Given the description of an element on the screen output the (x, y) to click on. 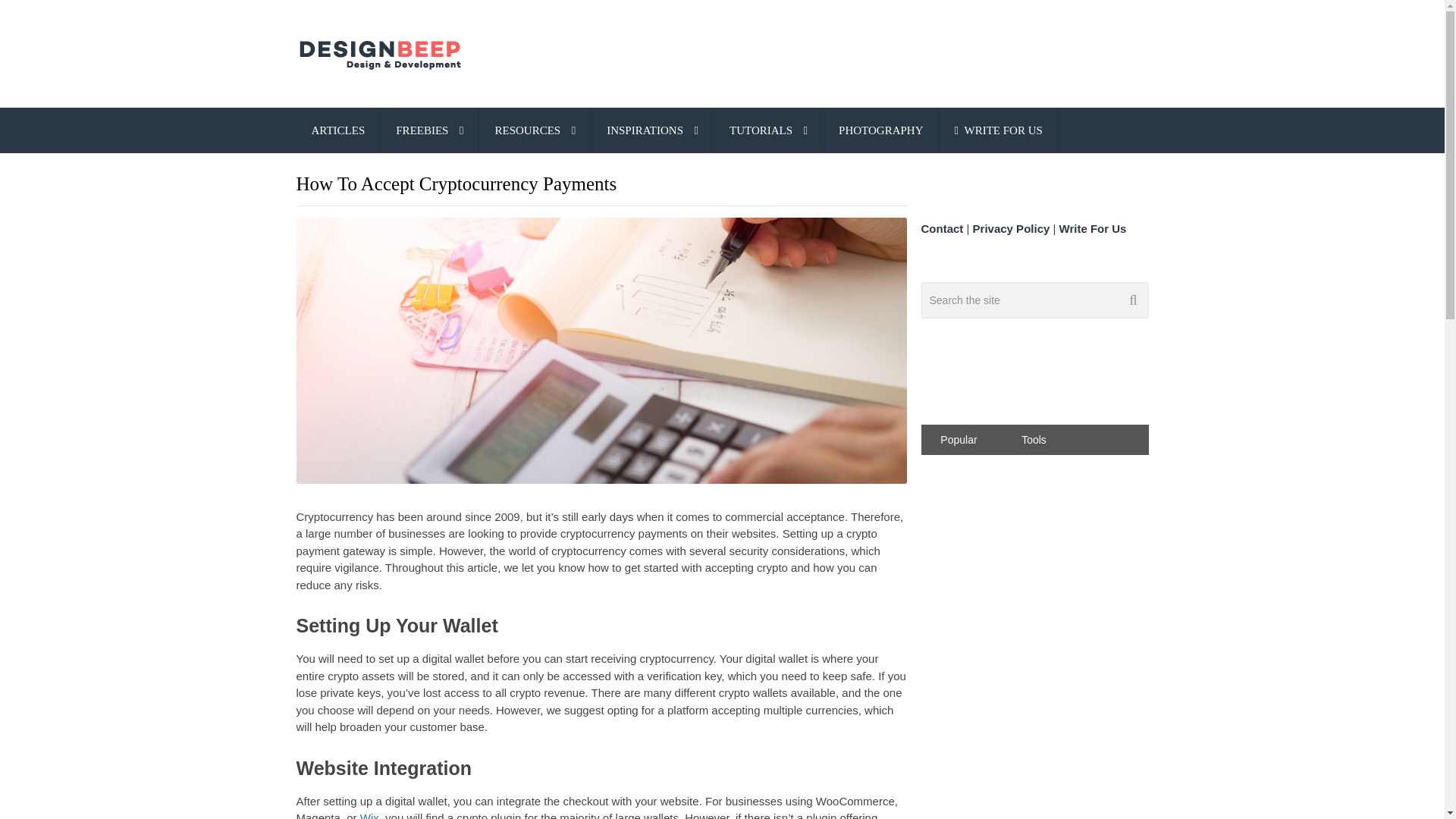
INSPIRATIONS (652, 130)
TUTORIALS (768, 130)
RESOURCES (535, 130)
FREEBIES (429, 130)
Wix (368, 815)
PHOTOGRAPHY (880, 130)
ARTICLES (337, 130)
WRITE FOR US (998, 130)
